Given the description of an element on the screen output the (x, y) to click on. 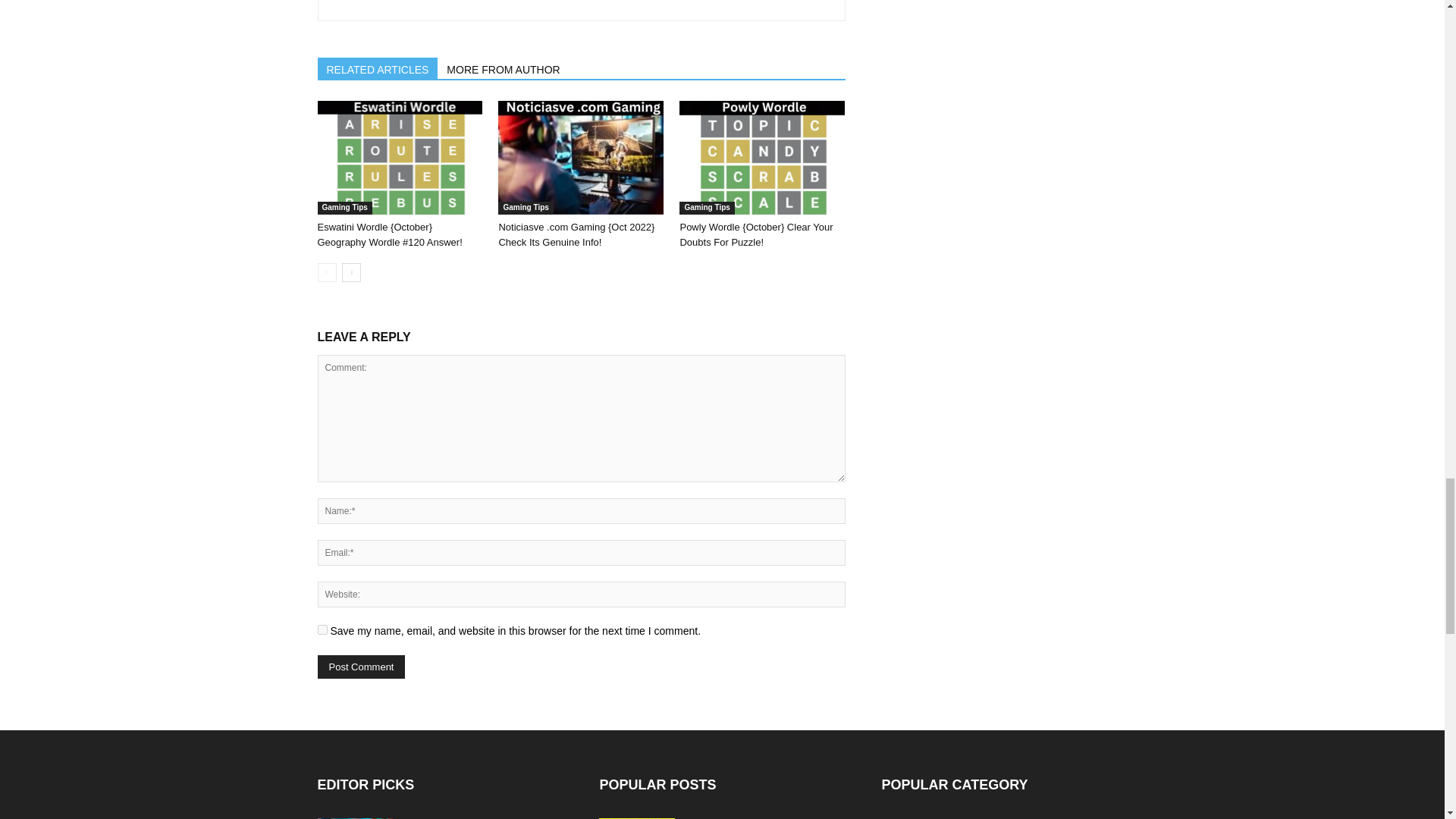
yes (321, 629)
Post Comment (360, 666)
